Given the description of an element on the screen output the (x, y) to click on. 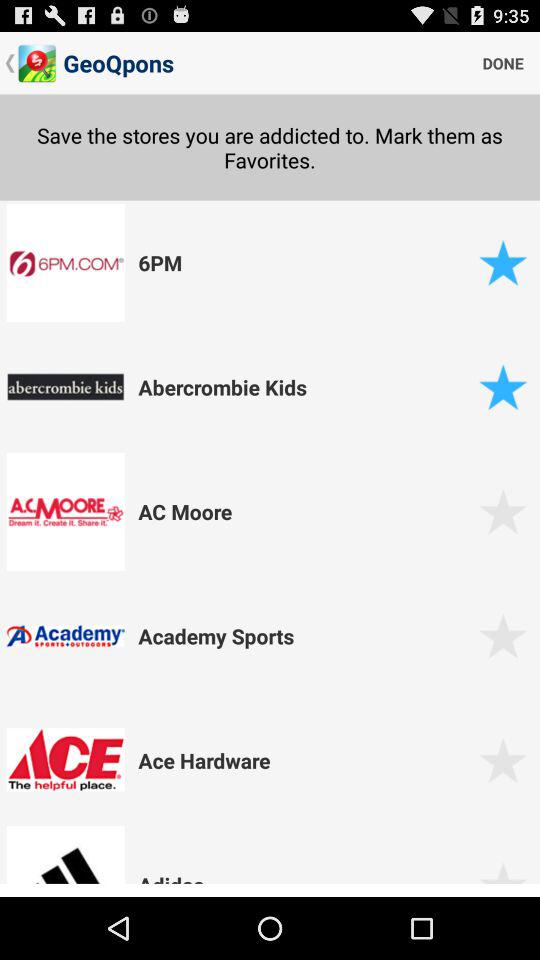
turn on academy sports (305, 635)
